Given the description of an element on the screen output the (x, y) to click on. 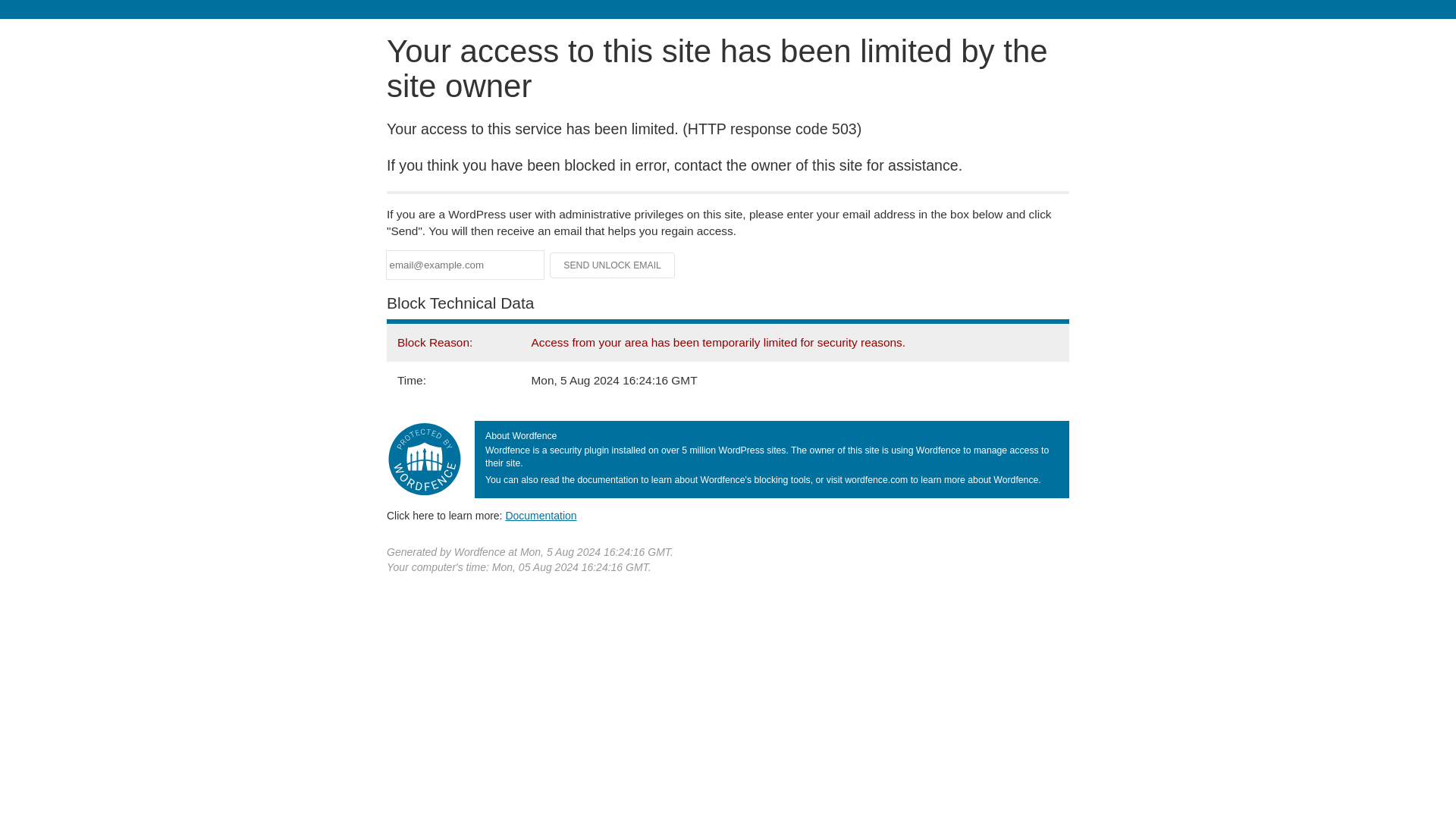
Send Unlock Email (612, 265)
Documentation (540, 515)
Send Unlock Email (612, 265)
